Given the description of an element on the screen output the (x, y) to click on. 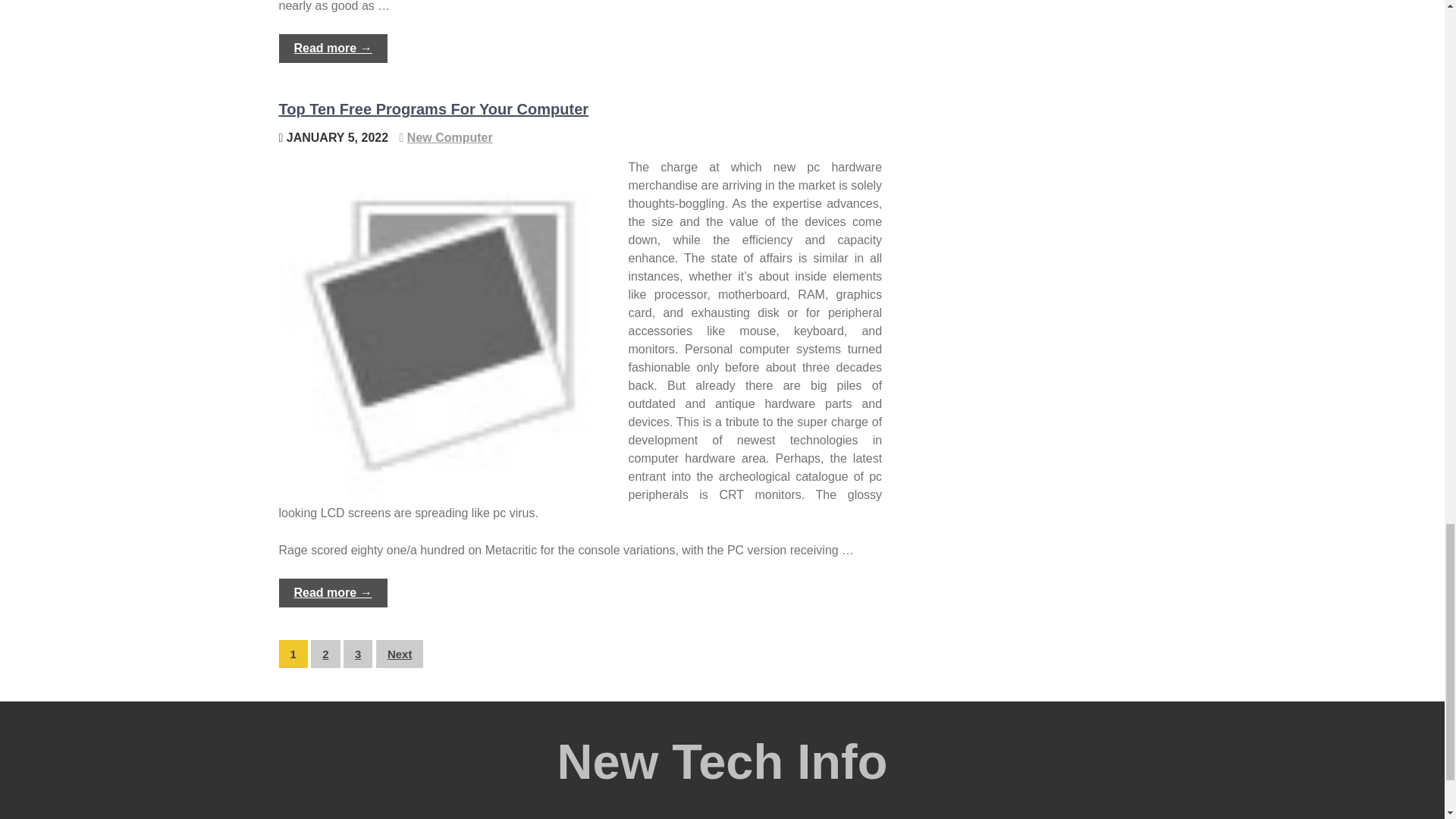
3 (357, 653)
Next (399, 653)
2 (325, 653)
New Computer (450, 137)
Top Ten Free Programs For Your Computer (434, 108)
